Given the description of an element on the screen output the (x, y) to click on. 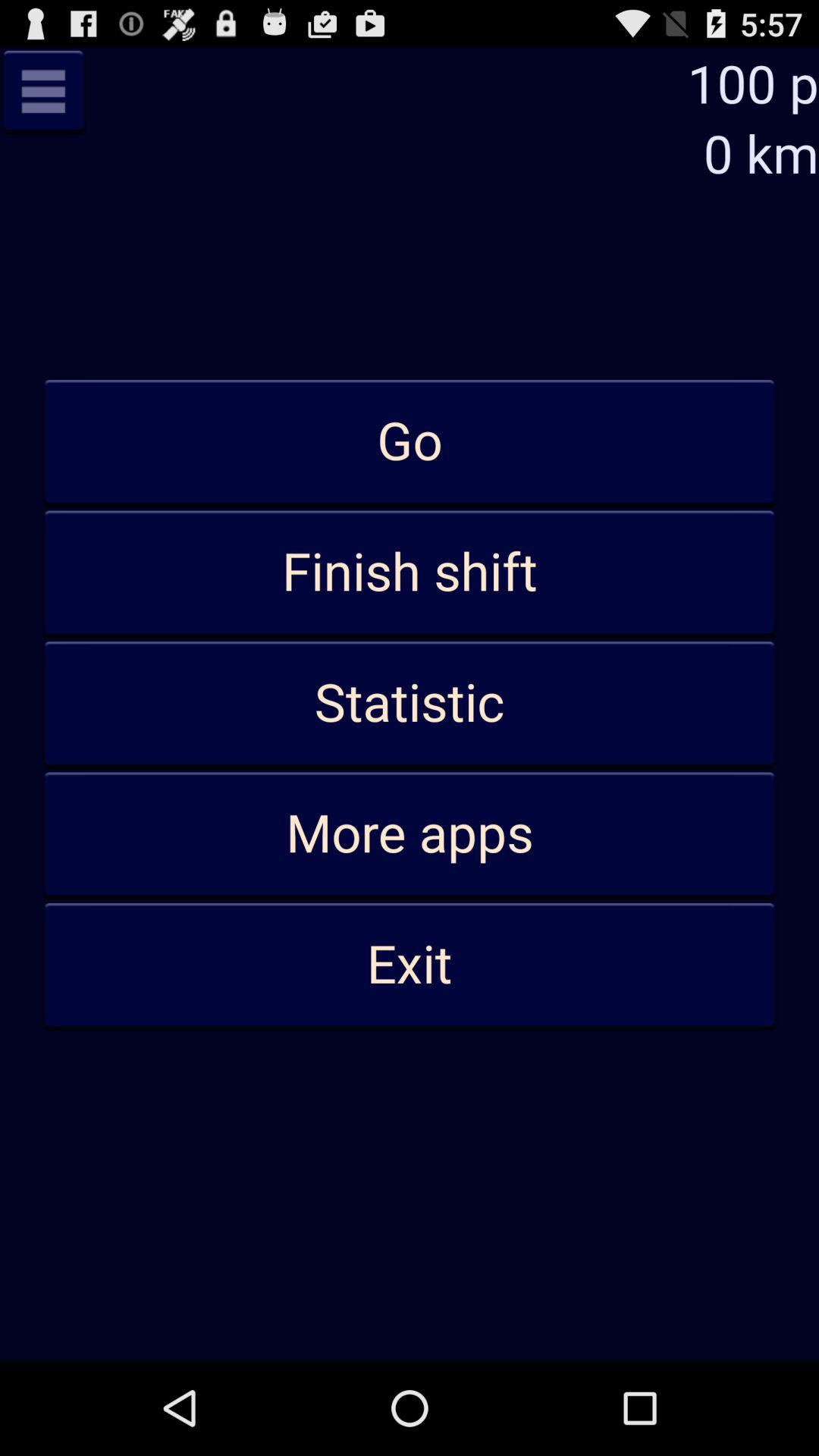
choose the app below the go item (409, 572)
